Given the description of an element on the screen output the (x, y) to click on. 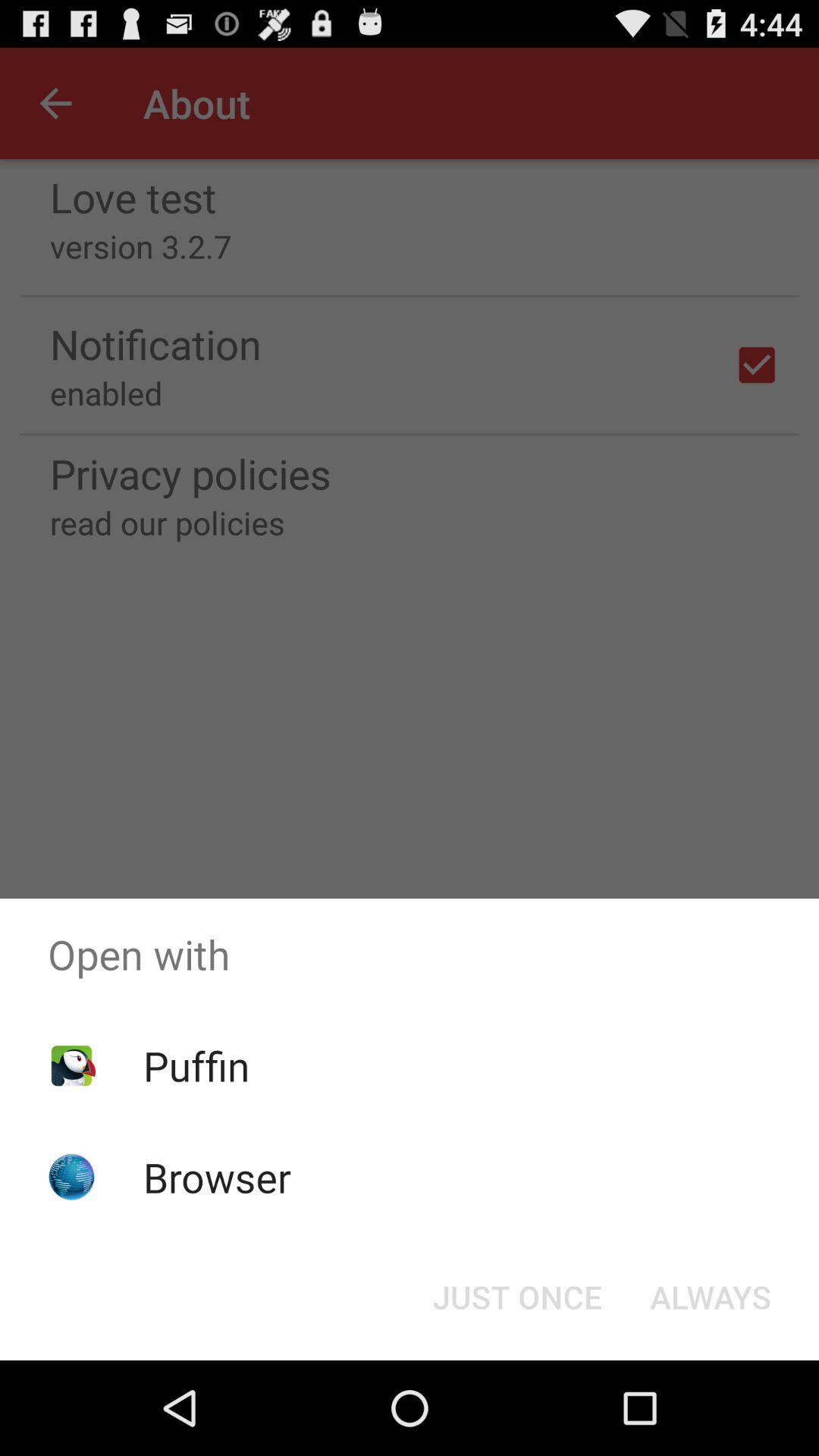
tap the icon above browser item (196, 1065)
